Given the description of an element on the screen output the (x, y) to click on. 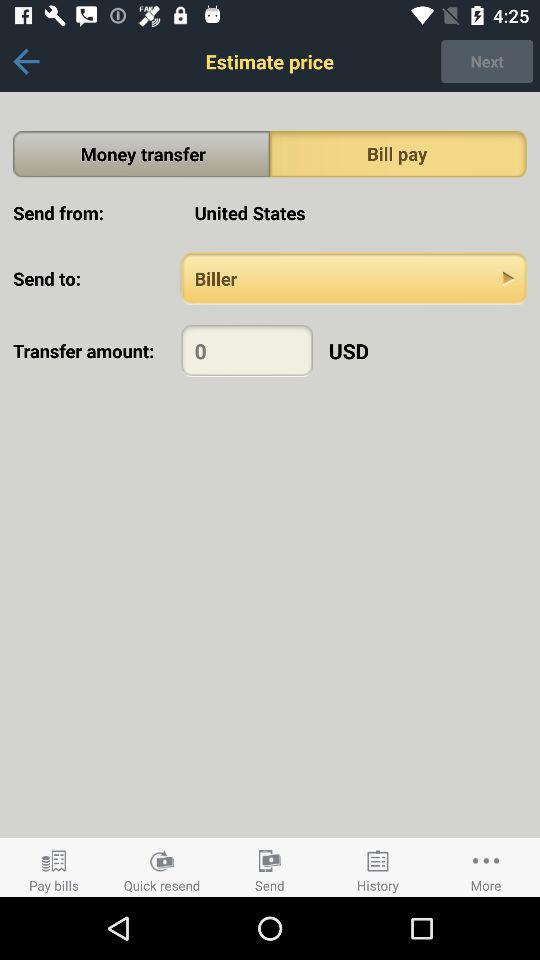
scroll to the money transfer icon (141, 154)
